Given the description of an element on the screen output the (x, y) to click on. 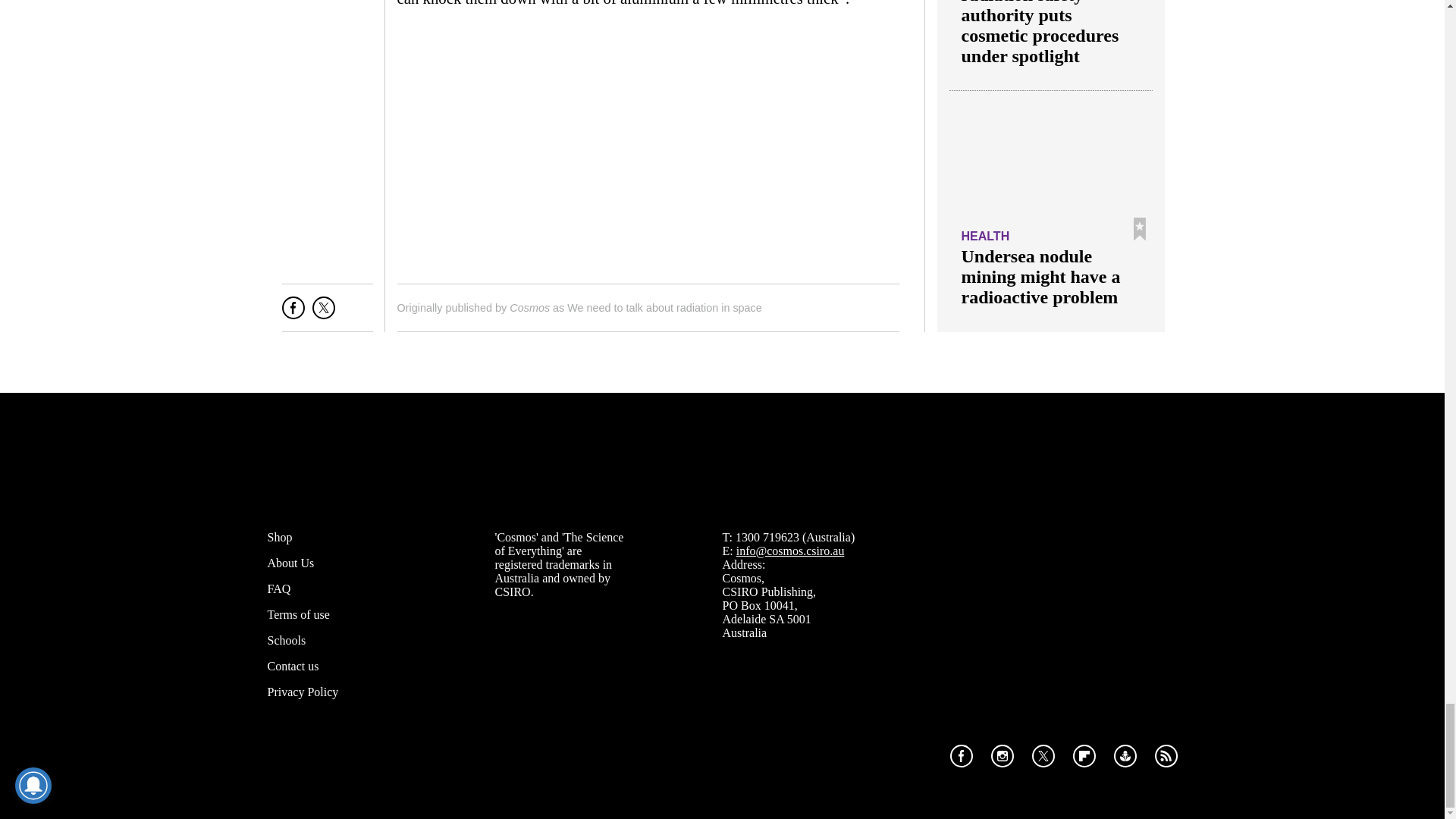
Share on Facebook (293, 313)
Announcing Orbital Reef - Your Address in Orbit (648, 144)
We need to talk about radiation in space (664, 307)
Tweet (323, 313)
